Given the description of an element on the screen output the (x, y) to click on. 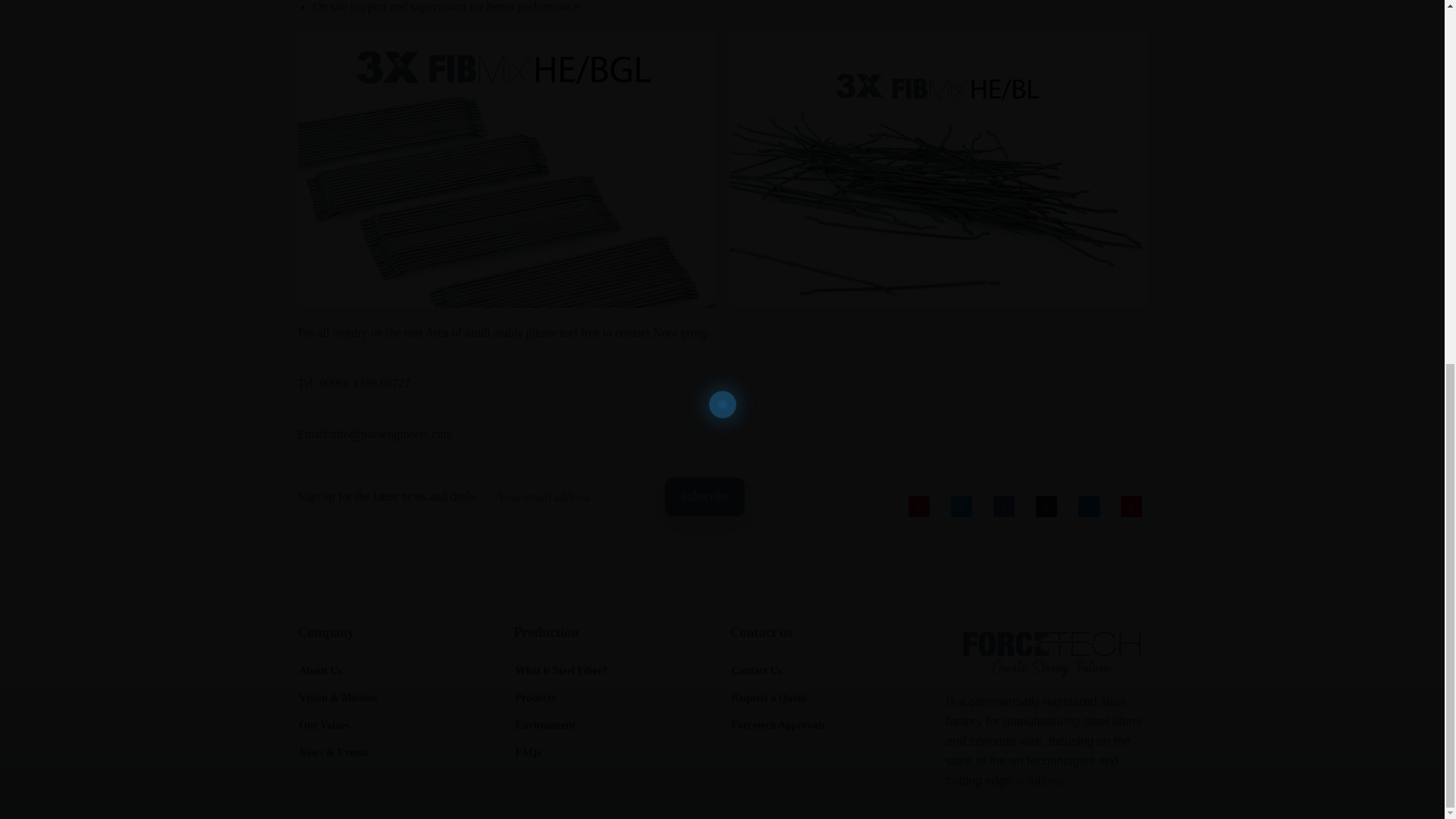
Our Values (323, 725)
What is Steel Fiber? (561, 670)
Subscribe (704, 496)
About Us (319, 670)
Subscribe (704, 496)
Products (535, 697)
